Given the description of an element on the screen output the (x, y) to click on. 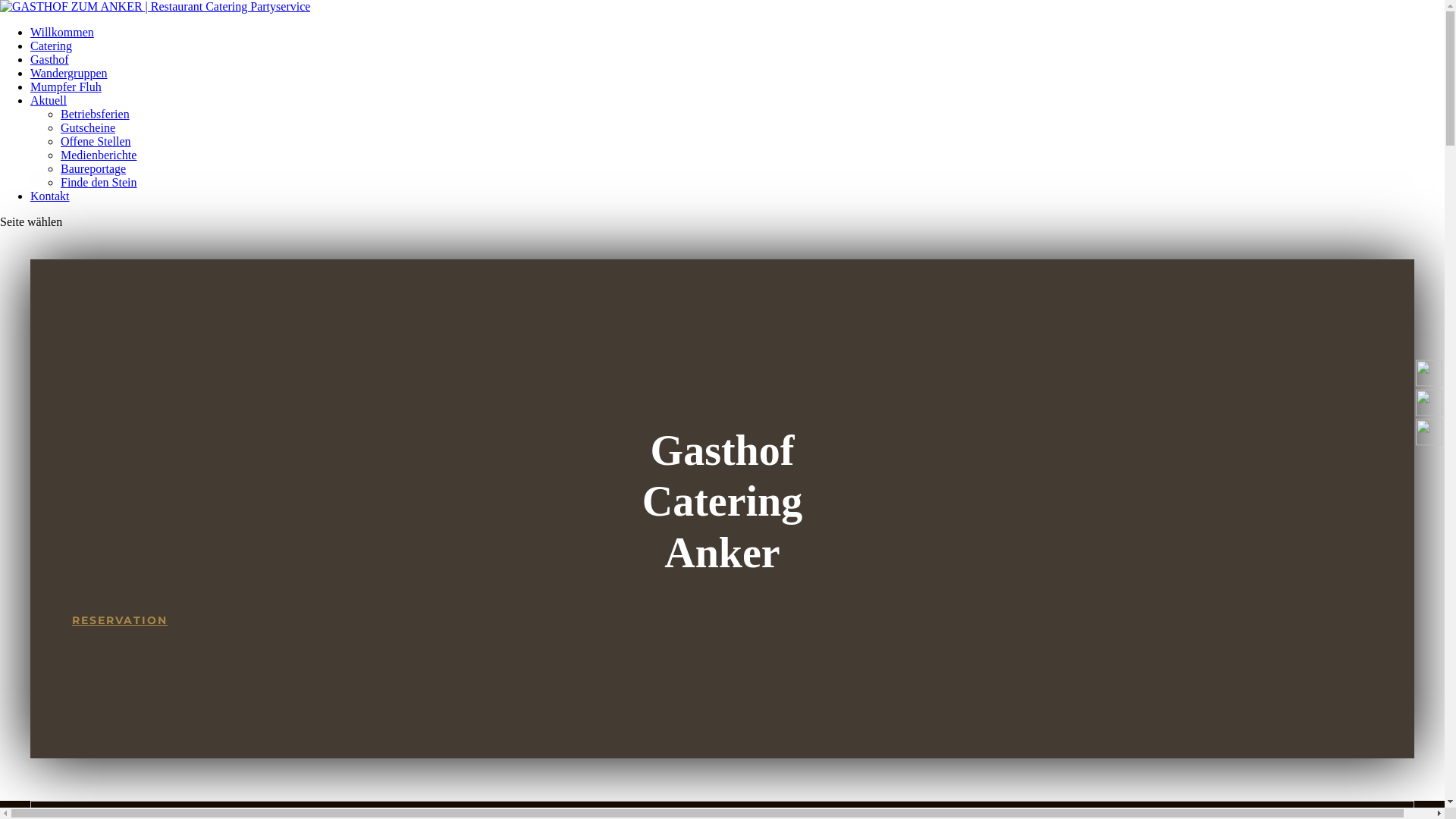
RESERVATION Element type: text (119, 620)
Mumpfer Fluh Element type: text (65, 86)
Offene Stellen Element type: text (95, 140)
Aktuell Element type: text (48, 100)
Gasthof Element type: text (49, 59)
Kontakt Element type: text (49, 195)
Finde den Stein Element type: text (98, 181)
Catering Element type: text (51, 45)
Gutscheine Element type: text (87, 127)
Wandergruppen Element type: text (68, 72)
Betriebsferien Element type: text (94, 113)
Baureportage Element type: text (92, 168)
Medienberichte Element type: text (98, 154)
Willkommen Element type: text (62, 31)
